Given the description of an element on the screen output the (x, y) to click on. 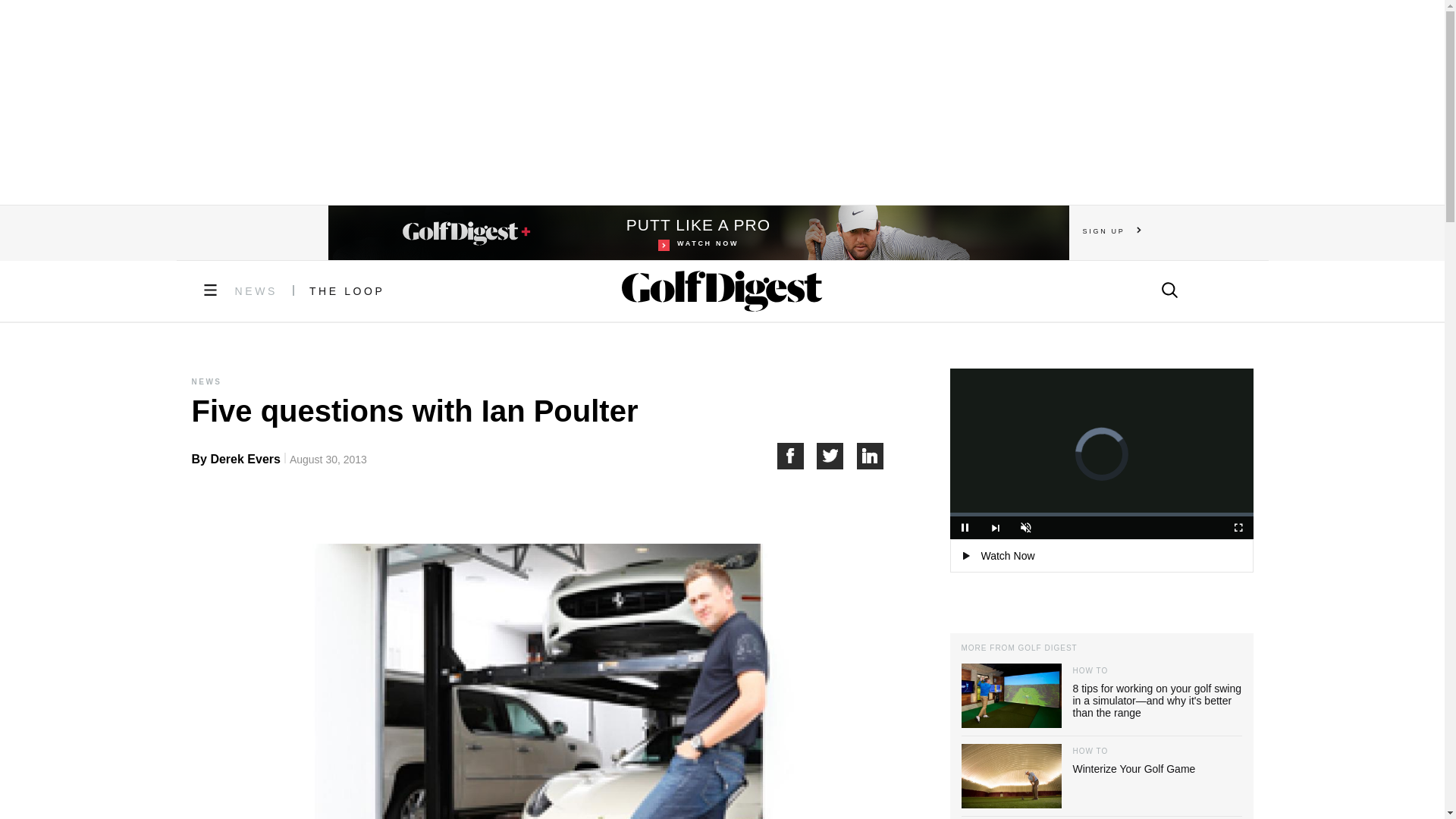
THE LOOP (346, 291)
Share on Facebook (796, 456)
NEWS (256, 291)
Share on LinkedIn (870, 456)
SIGN UP (1112, 230)
Unmute (1025, 527)
Share on Twitter (697, 232)
Next playlist item (836, 456)
Pause (994, 527)
